Given the description of an element on the screen output the (x, y) to click on. 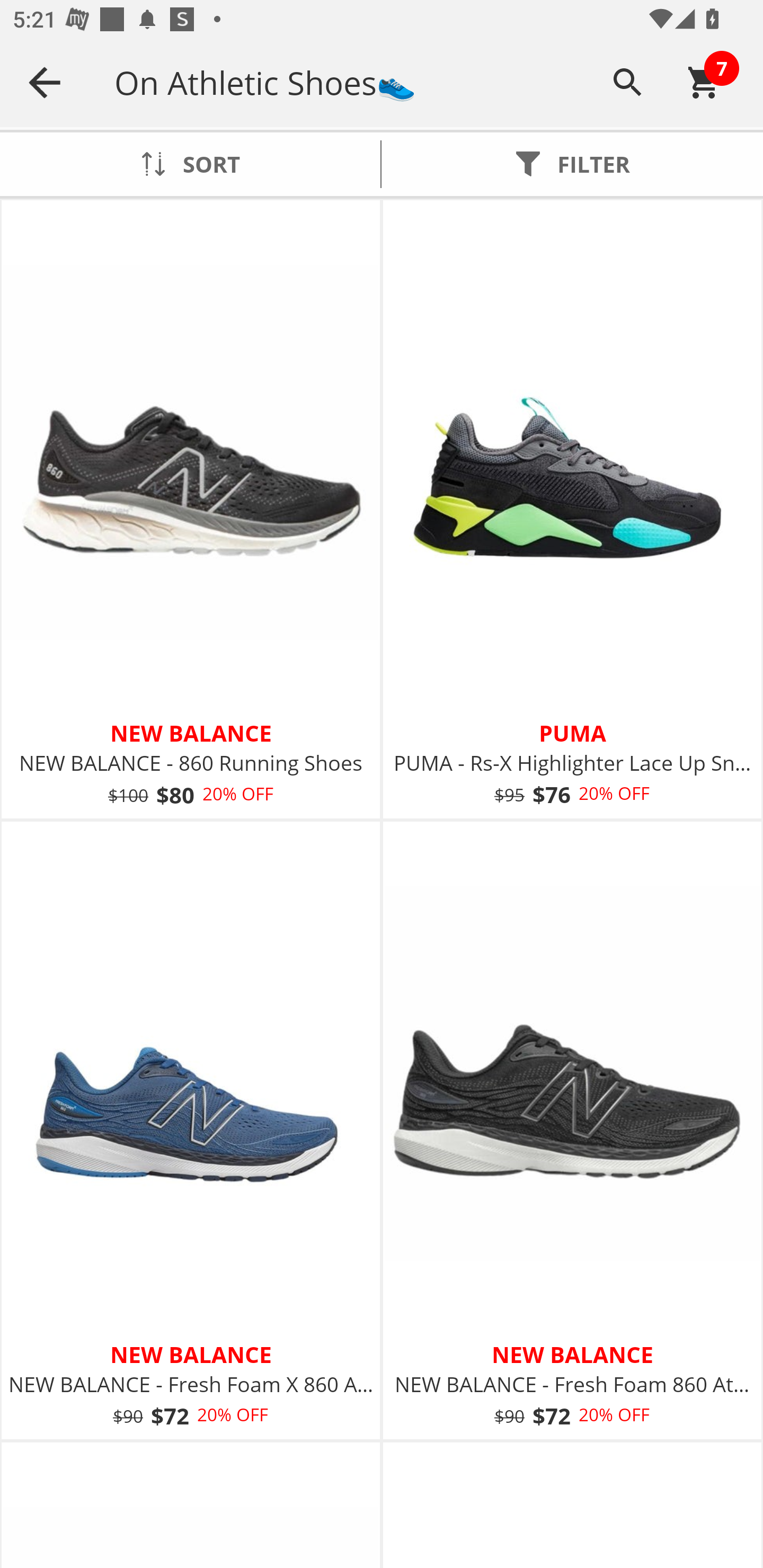
Navigate up (44, 82)
SORT (190, 163)
FILTER (572, 163)
